Given the description of an element on the screen output the (x, y) to click on. 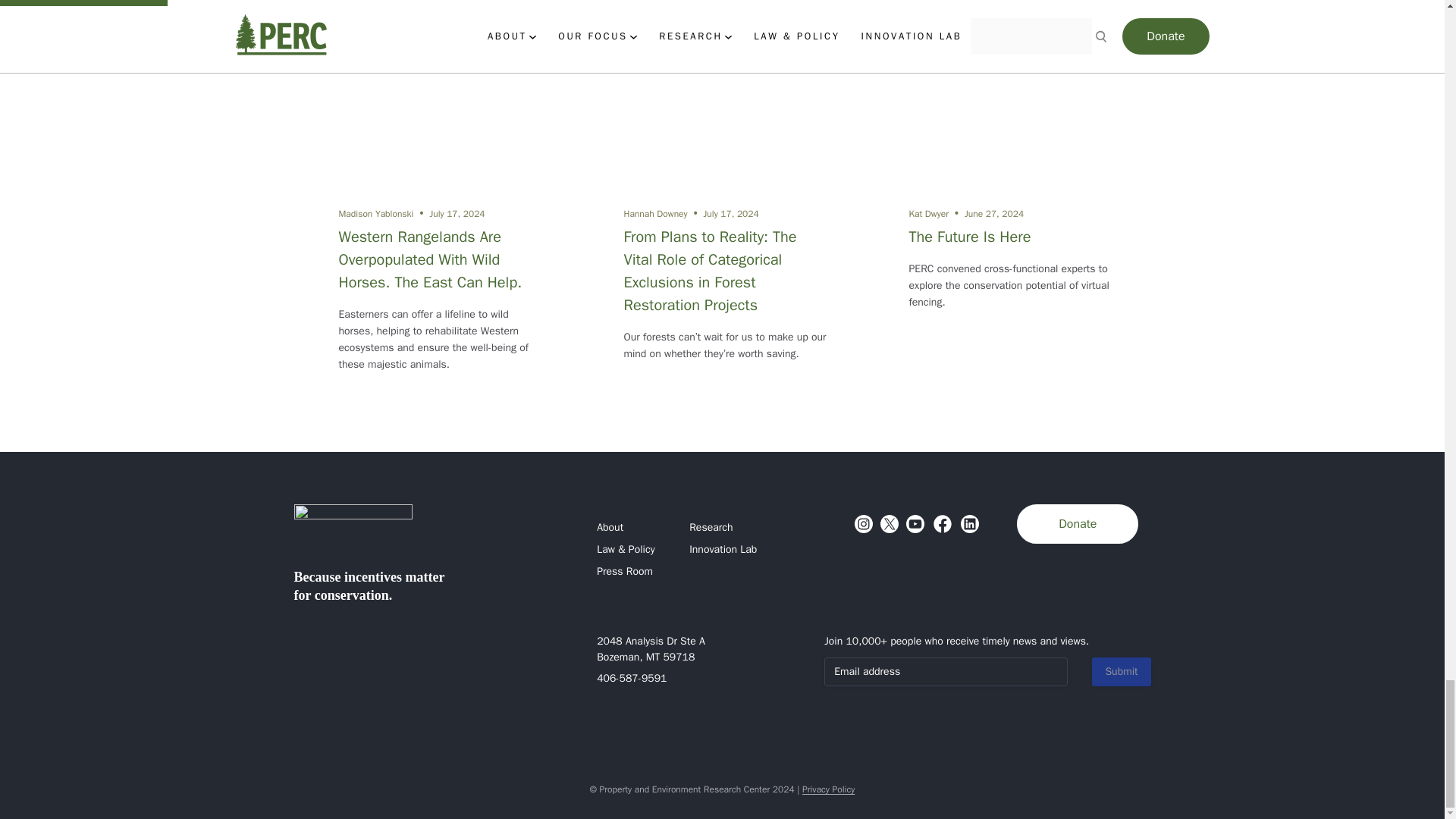
Submit (1121, 671)
